Given the description of an element on the screen output the (x, y) to click on. 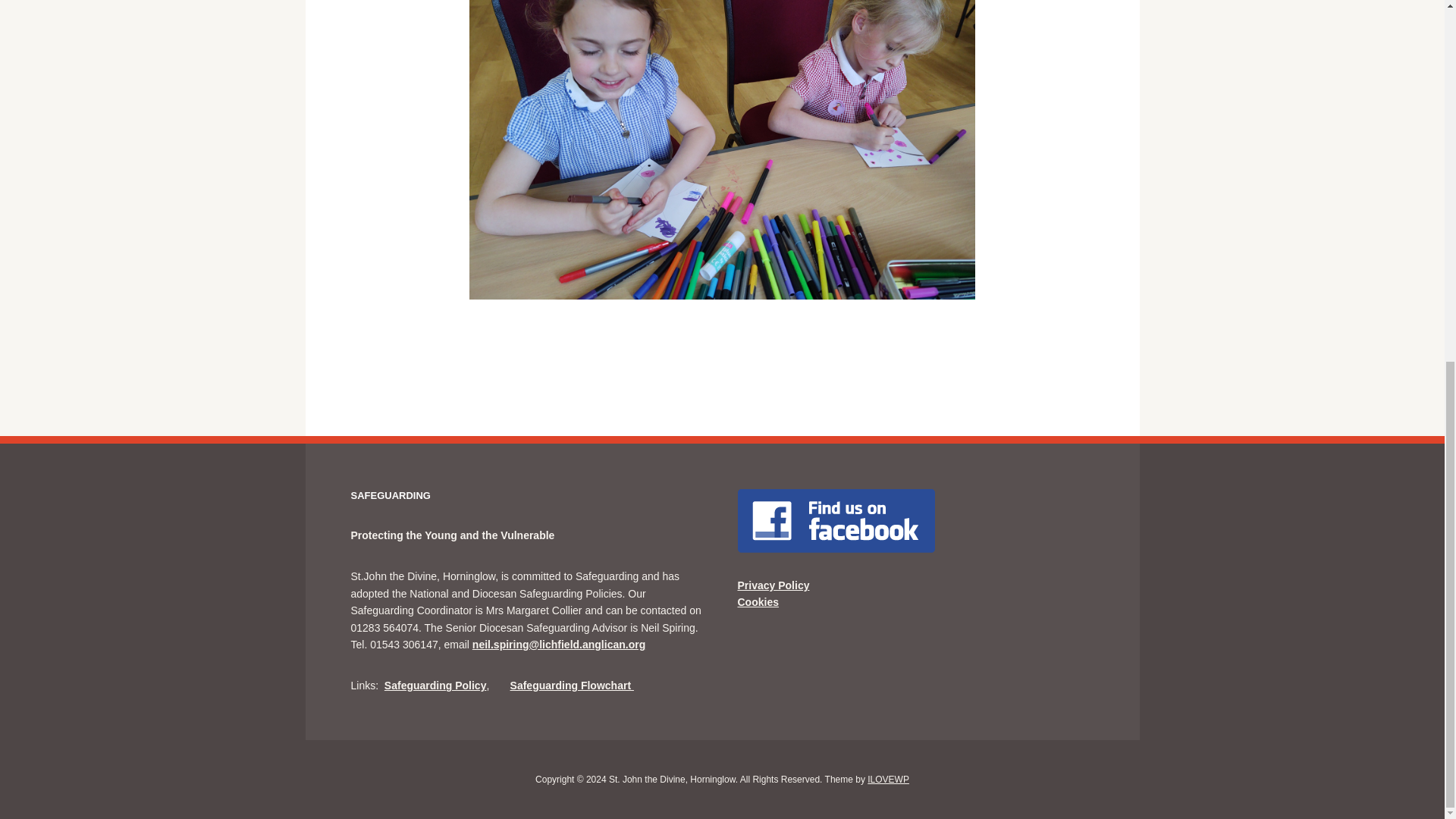
Safeguarding Flowchart  (572, 685)
Safeguarding Policy (435, 685)
Privacy Policy (772, 585)
